Given the description of an element on the screen output the (x, y) to click on. 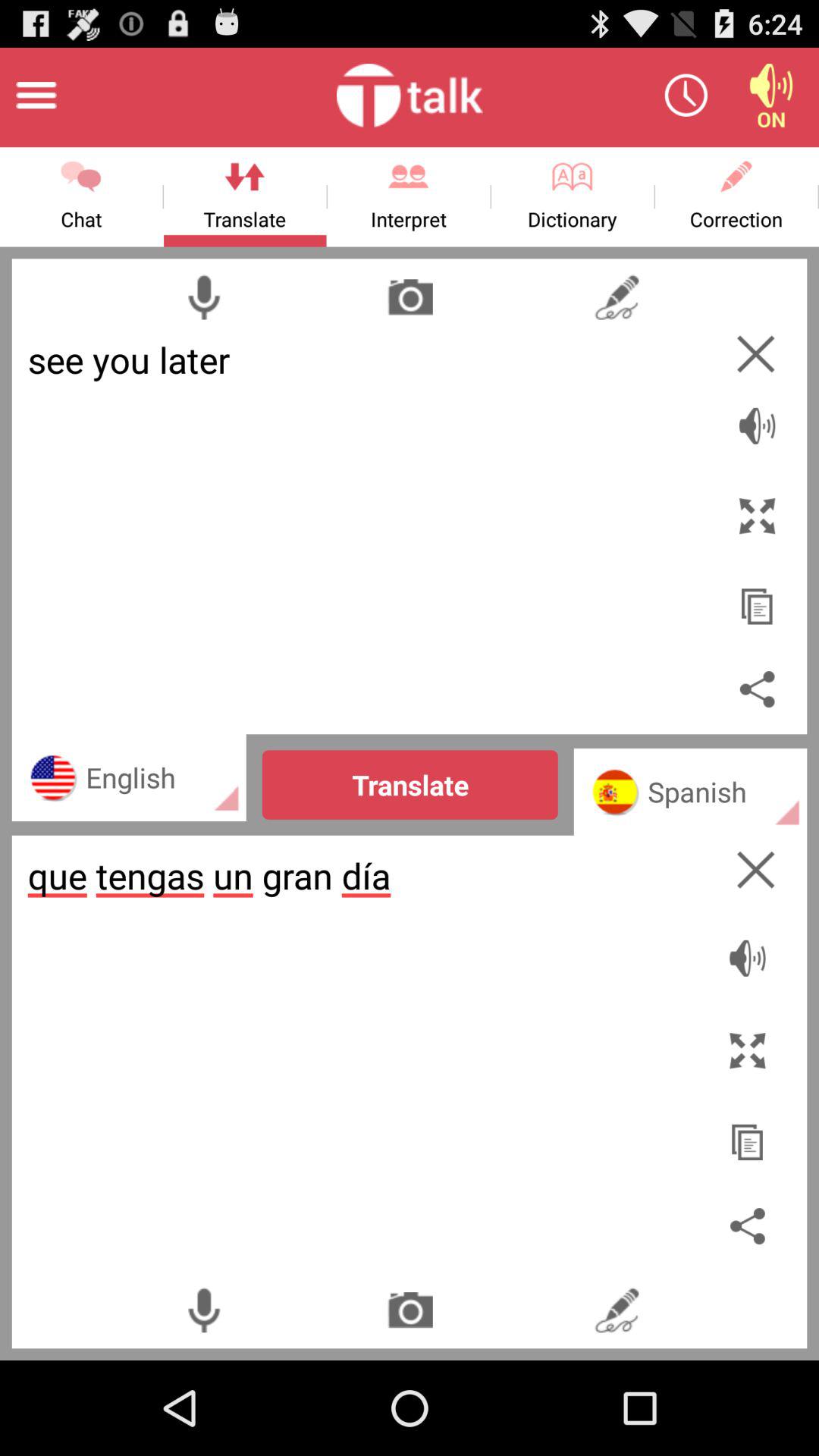
toggle sound (757, 417)
